Given the description of an element on the screen output the (x, y) to click on. 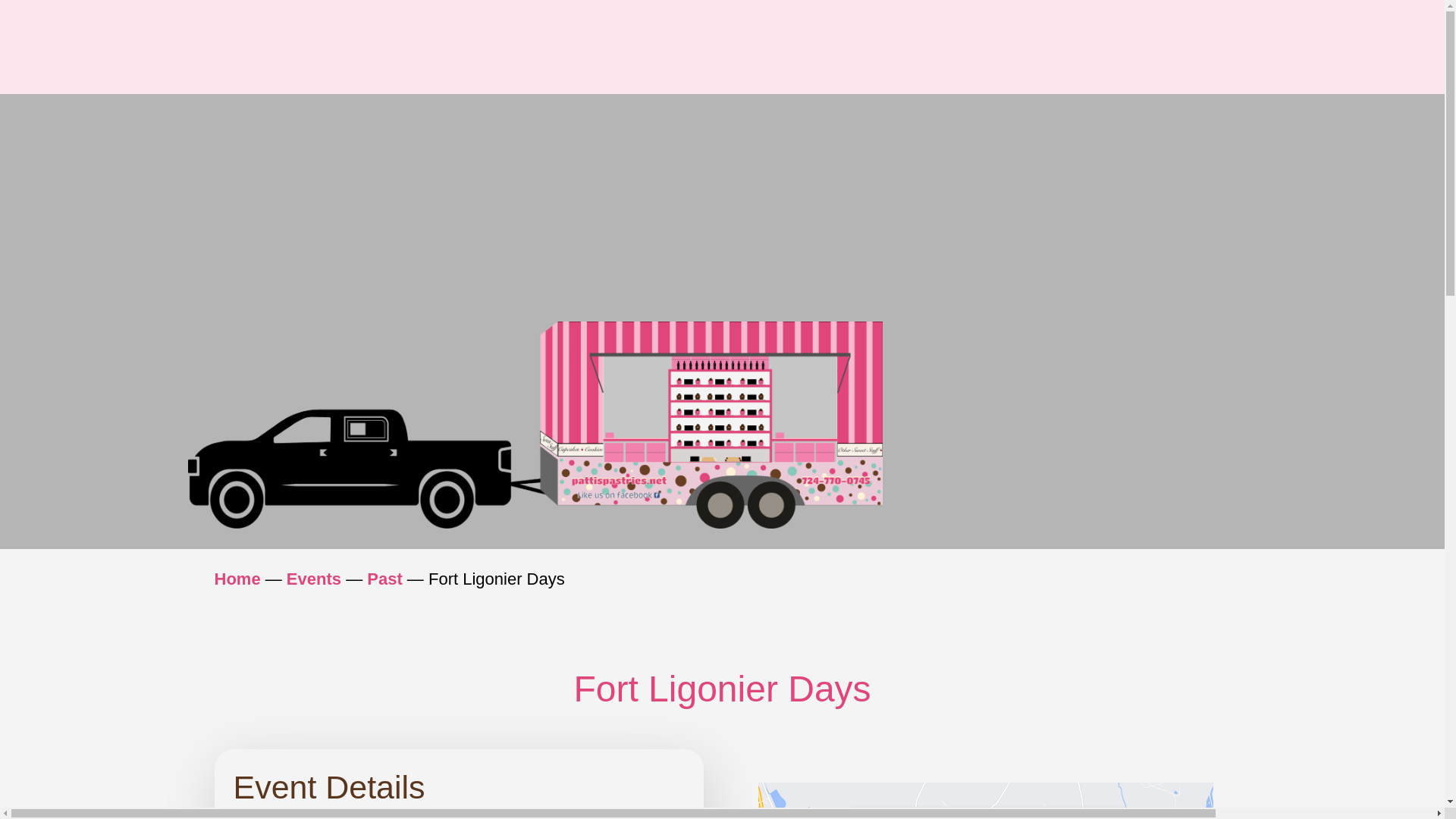
Past (383, 578)
Events (313, 578)
Home (237, 578)
